Given the description of an element on the screen output the (x, y) to click on. 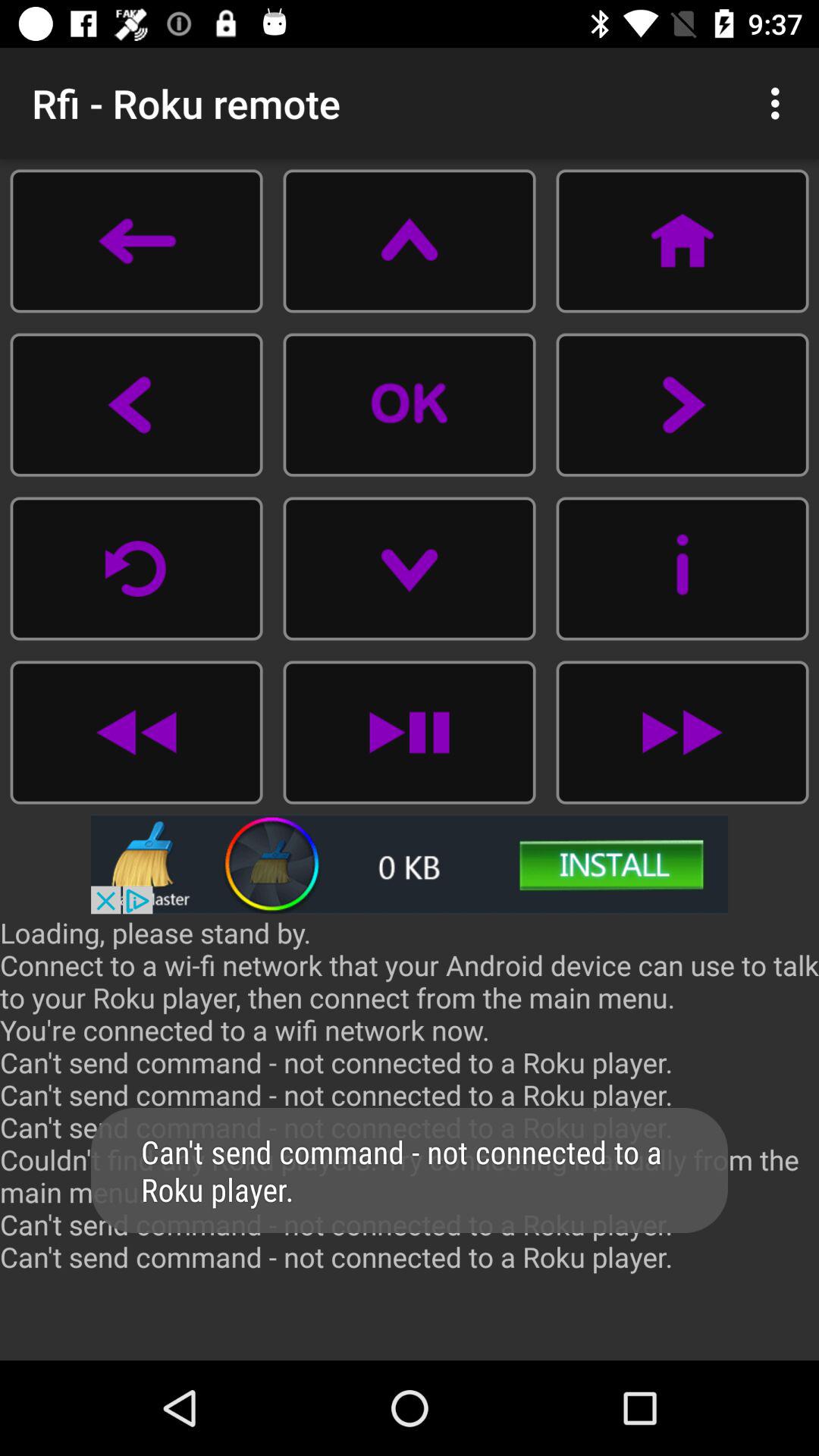
home (682, 240)
